Given the description of an element on the screen output the (x, y) to click on. 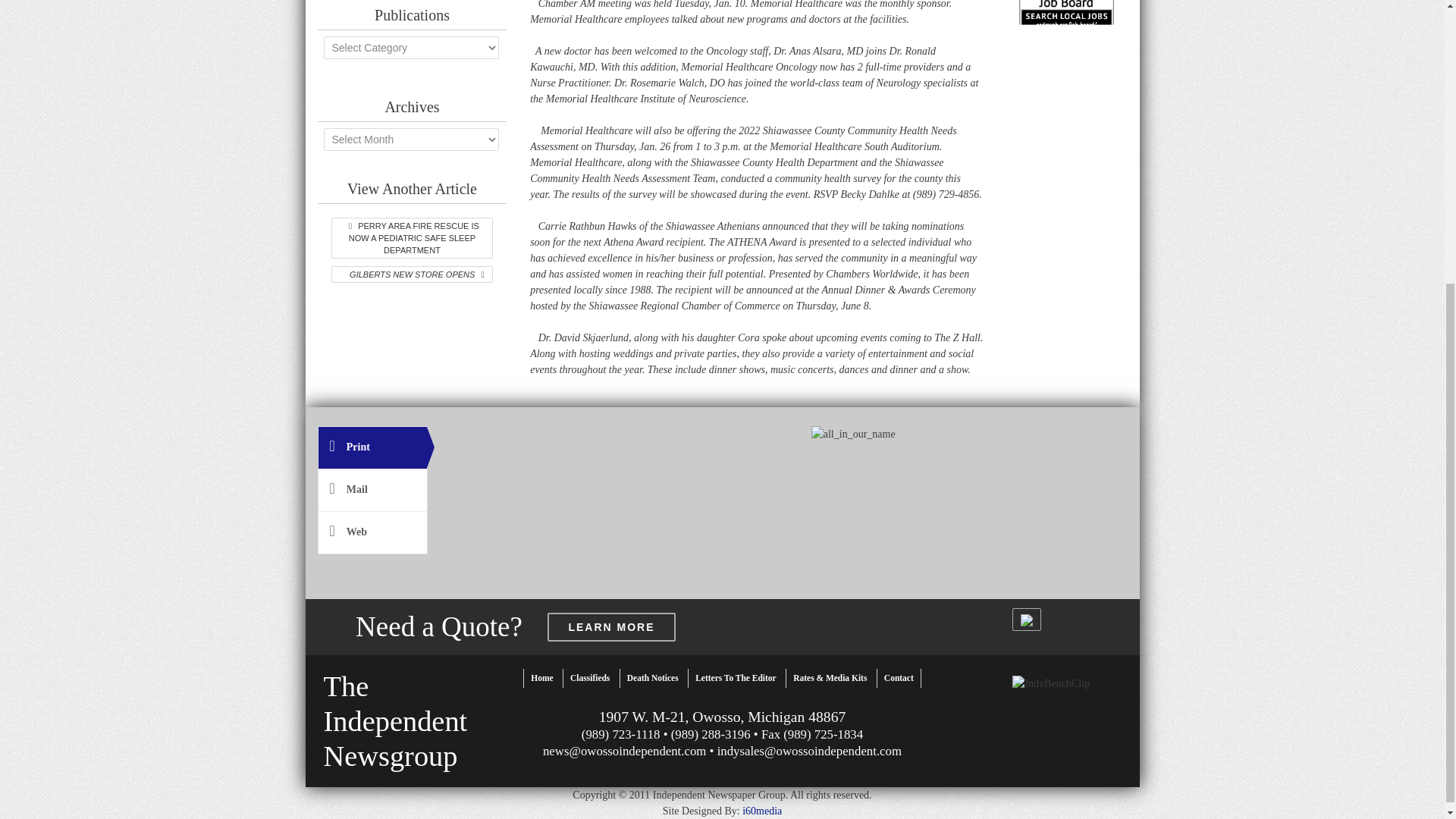
Classifieds (589, 678)
Home (541, 678)
LEARN MORE (611, 626)
GILBERTS NEW STORE OPENS (411, 274)
